Given the description of an element on the screen output the (x, y) to click on. 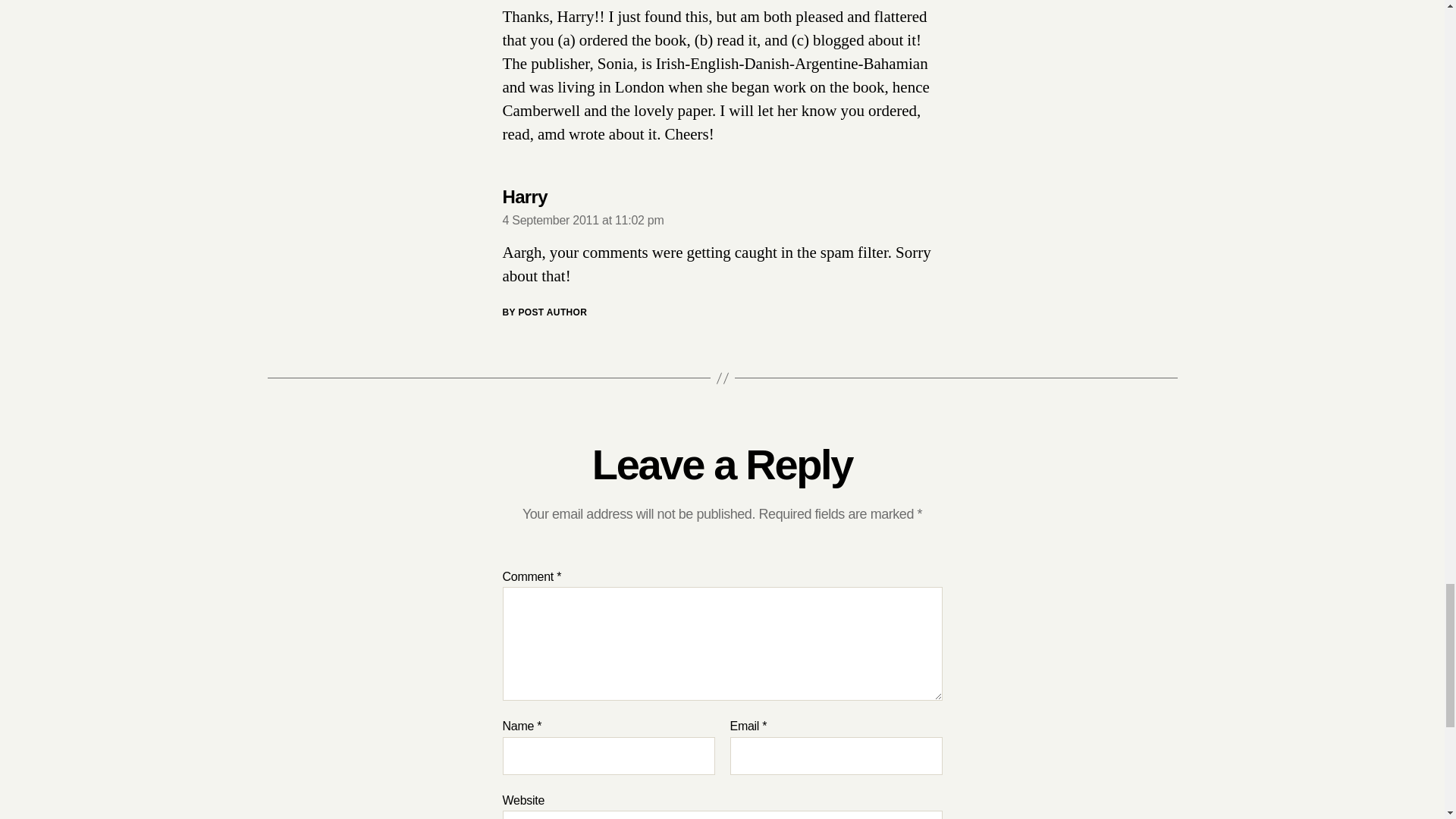
4 September 2011 at 11:02 pm (582, 219)
